Given the description of an element on the screen output the (x, y) to click on. 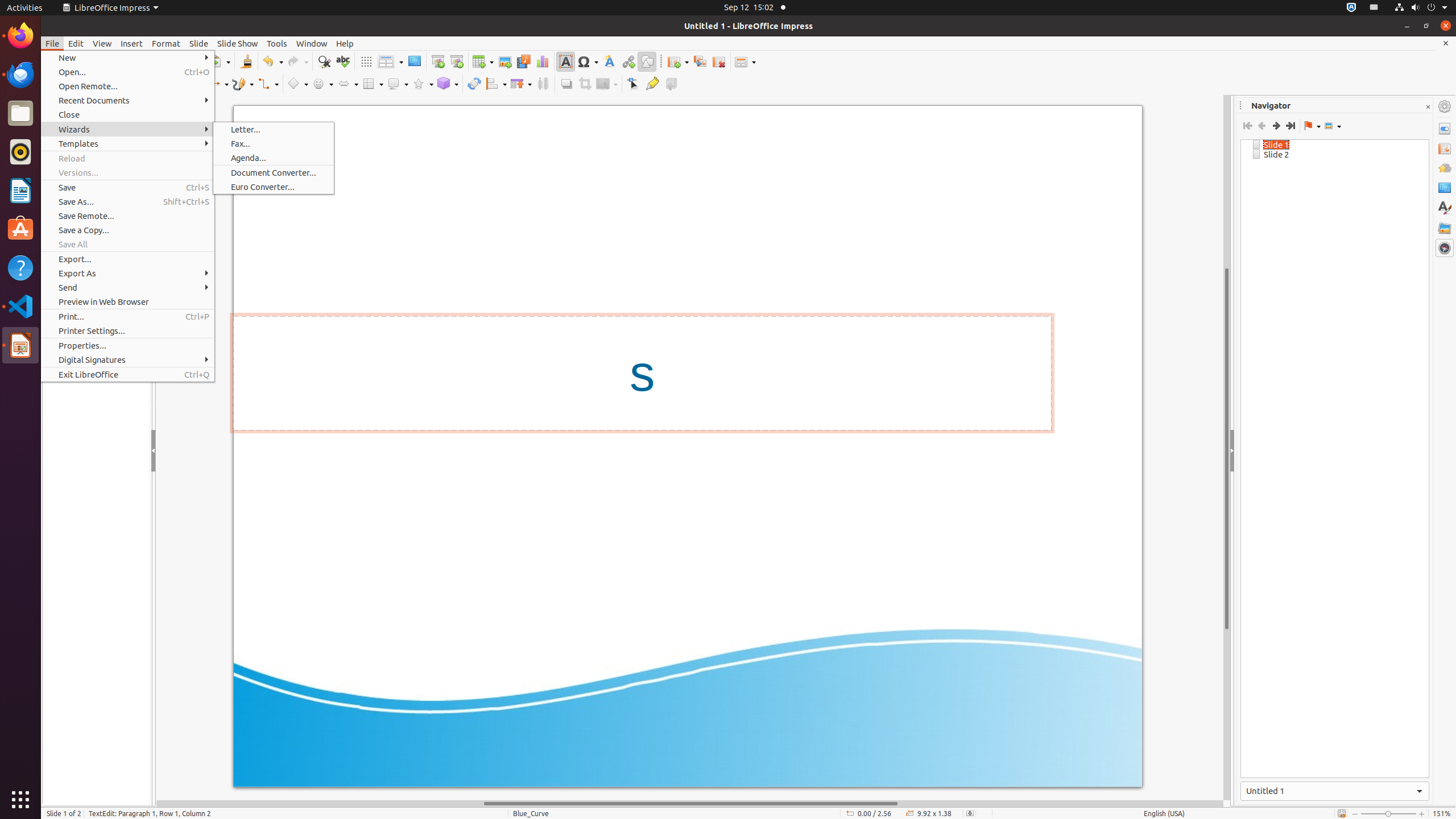
Gallery Element type: radio-button (1444, 227)
Format Element type: menu (165, 43)
Properties... Element type: menu-item (127, 345)
Close Sidebar Deck Element type: push-button (1427, 106)
Digital Signatures Element type: menu (127, 359)
